Given the description of an element on the screen output the (x, y) to click on. 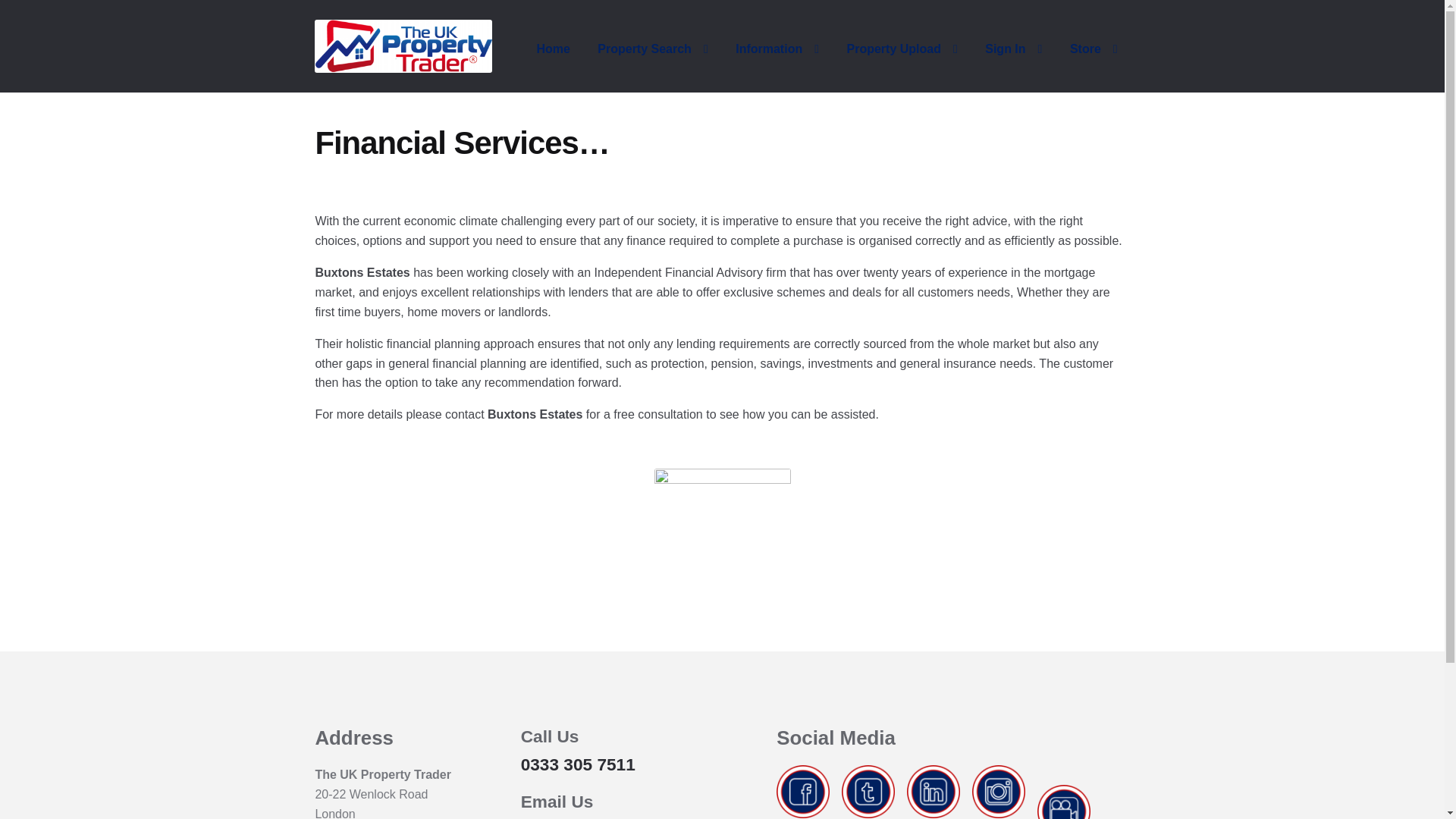
Property Upload (901, 48)
Property Search (652, 48)
Information (777, 48)
Home (552, 48)
Sign In (1013, 48)
